Given the description of an element on the screen output the (x, y) to click on. 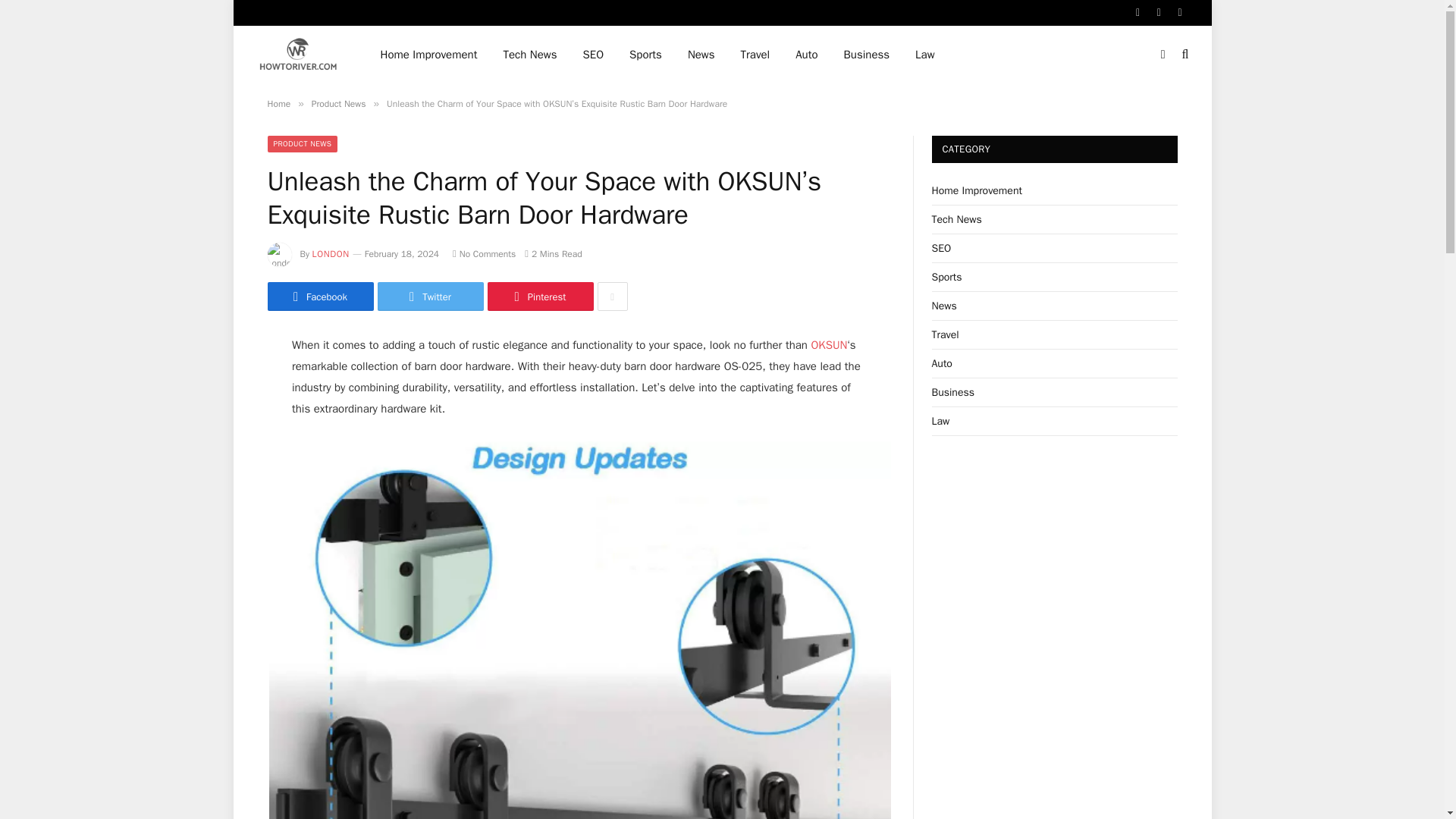
PRODUCT NEWS (301, 143)
News (701, 54)
No Comments (483, 254)
Sports (645, 54)
Switch to Dark Design - easier on eyes. (1163, 54)
Home (277, 103)
Tech News (529, 54)
LONDON (331, 254)
Facebook (319, 296)
Share on Pinterest (539, 296)
